Given the description of an element on the screen output the (x, y) to click on. 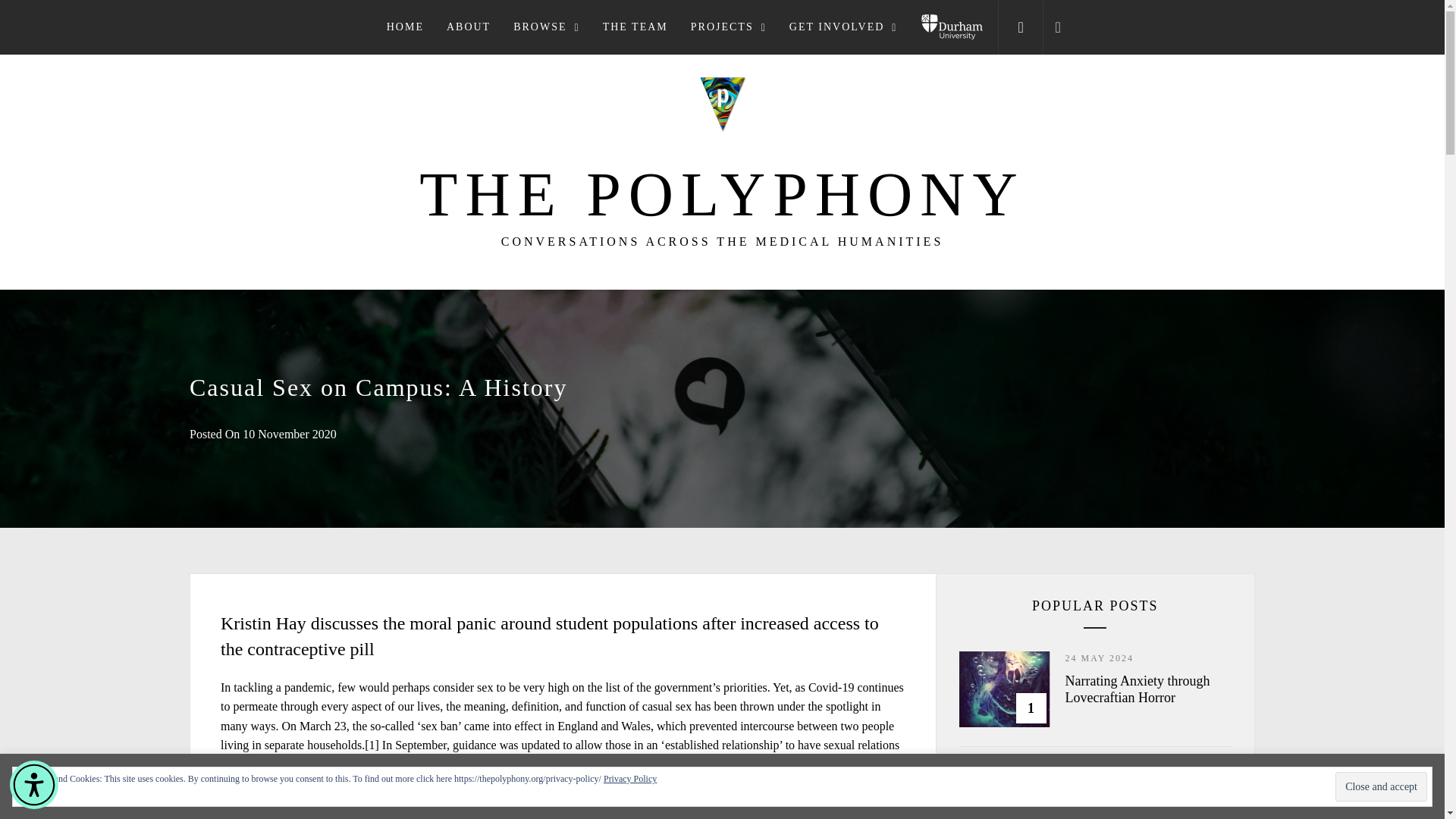
BROWSE (546, 27)
GET INVOLVED (842, 27)
Search (797, 407)
HOME (405, 27)
THE TEAM (635, 27)
10 November 2020 (289, 433)
Close and accept (1380, 786)
THE POLYPHONY (722, 194)
Accessibility Menu (34, 784)
PROJECTS (728, 27)
ABOUT (468, 27)
